Given the description of an element on the screen output the (x, y) to click on. 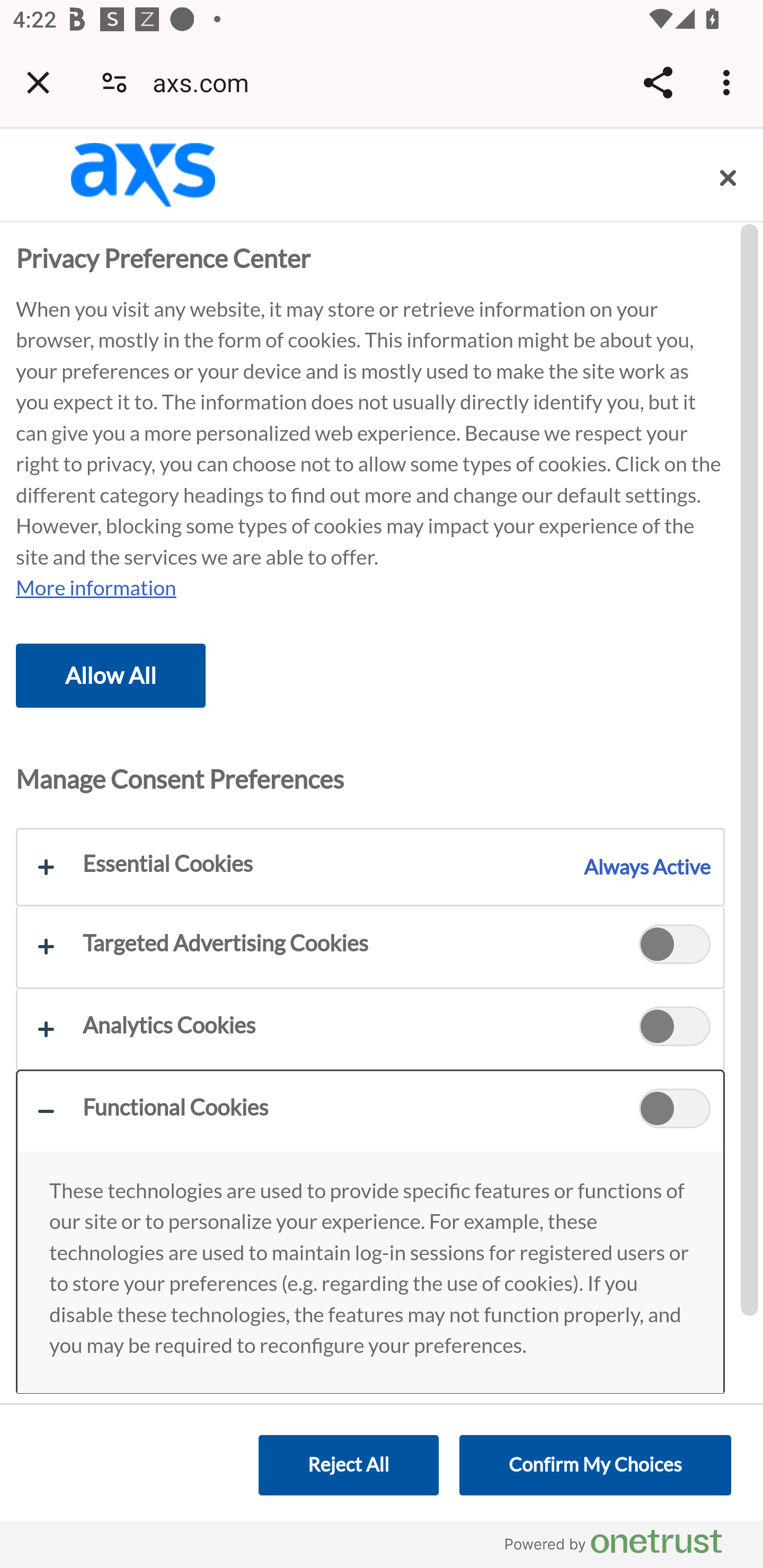
Close tab (38, 82)
Share (657, 82)
Customize and control Google Chrome (729, 82)
Connection is secure (114, 81)
axs.com (206, 81)
Close (727, 177)
Allow All (111, 674)
Essential Cookies Always Active (370, 867)
Targeted Advertising Cookies (370, 946)
Targeted Advertising Cookies (674, 946)
Analytics Cookies (370, 1028)
Analytics Cookies (674, 1029)
Functional Cookies (674, 1111)
Reject All (347, 1464)
Confirm My Choices (593, 1464)
